Given the description of an element on the screen output the (x, y) to click on. 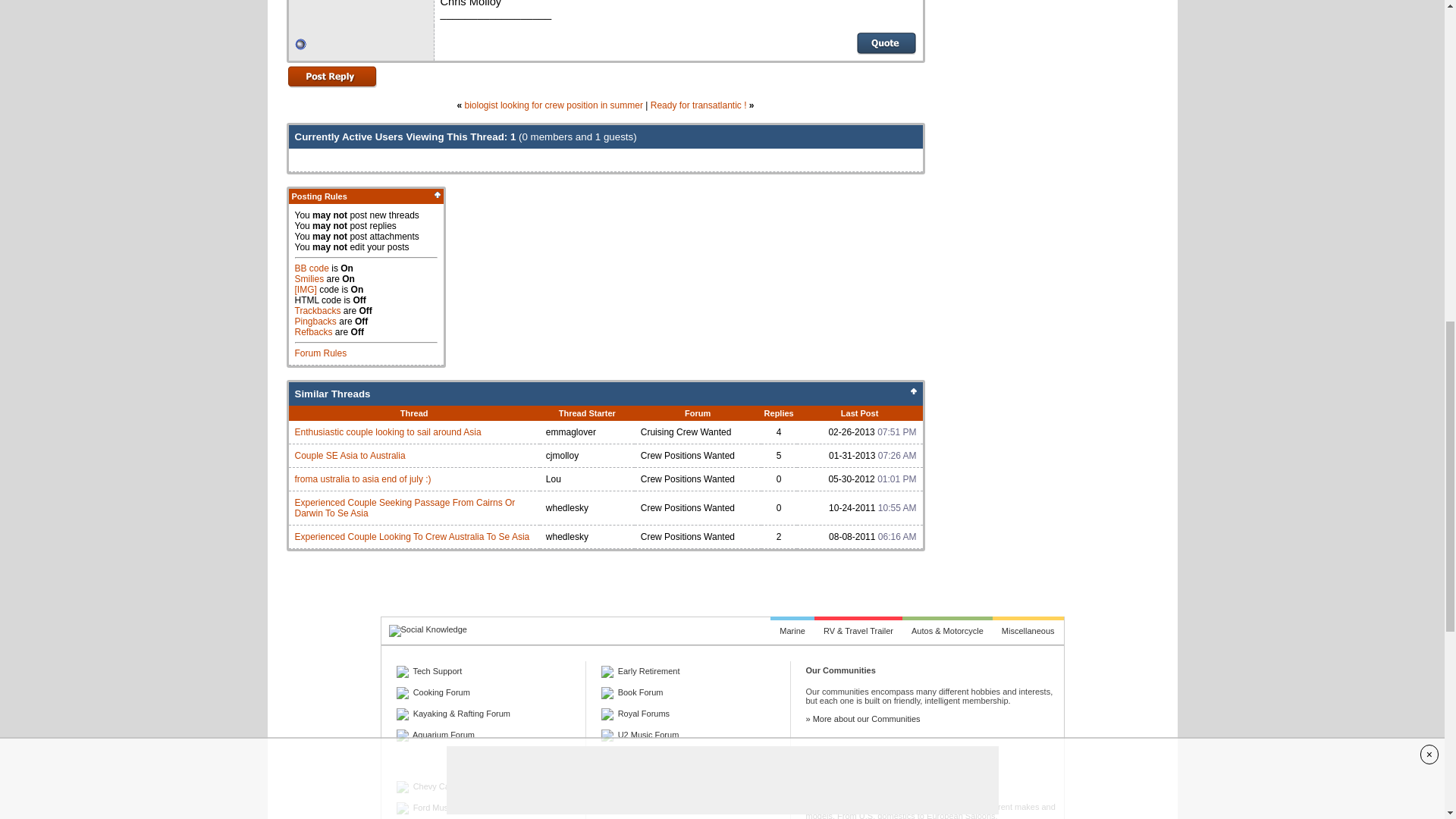
cjmolloy is offline (299, 43)
Reply With Quote (885, 42)
Reply (331, 76)
